Given the description of an element on the screen output the (x, y) to click on. 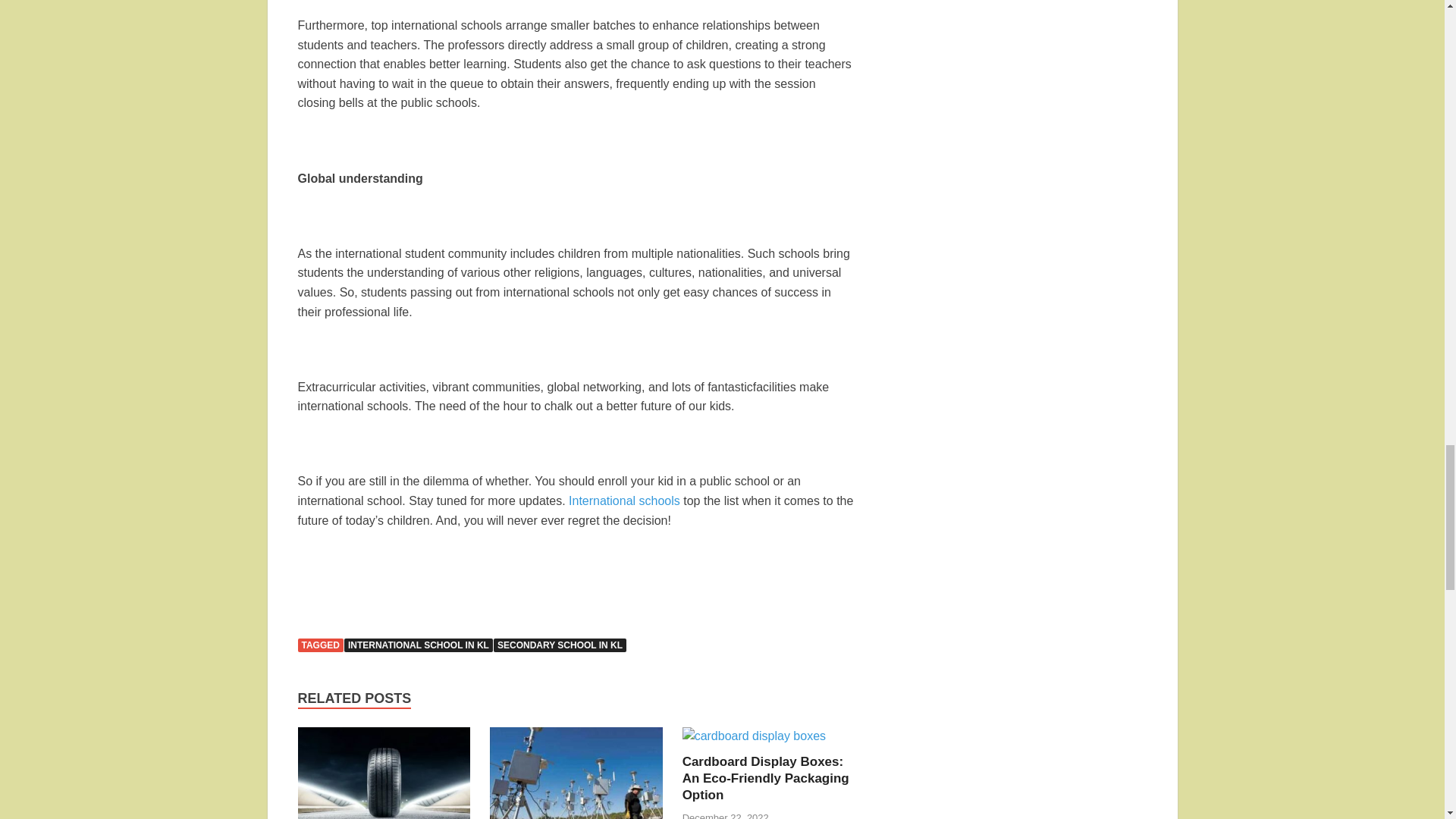
Cardboard Display Boxes: An Eco-Friendly Packaging Option (753, 735)
Cardboard Display Boxes: An Eco-Friendly Packaging Option (765, 778)
International schools (624, 500)
